Given the description of an element on the screen output the (x, y) to click on. 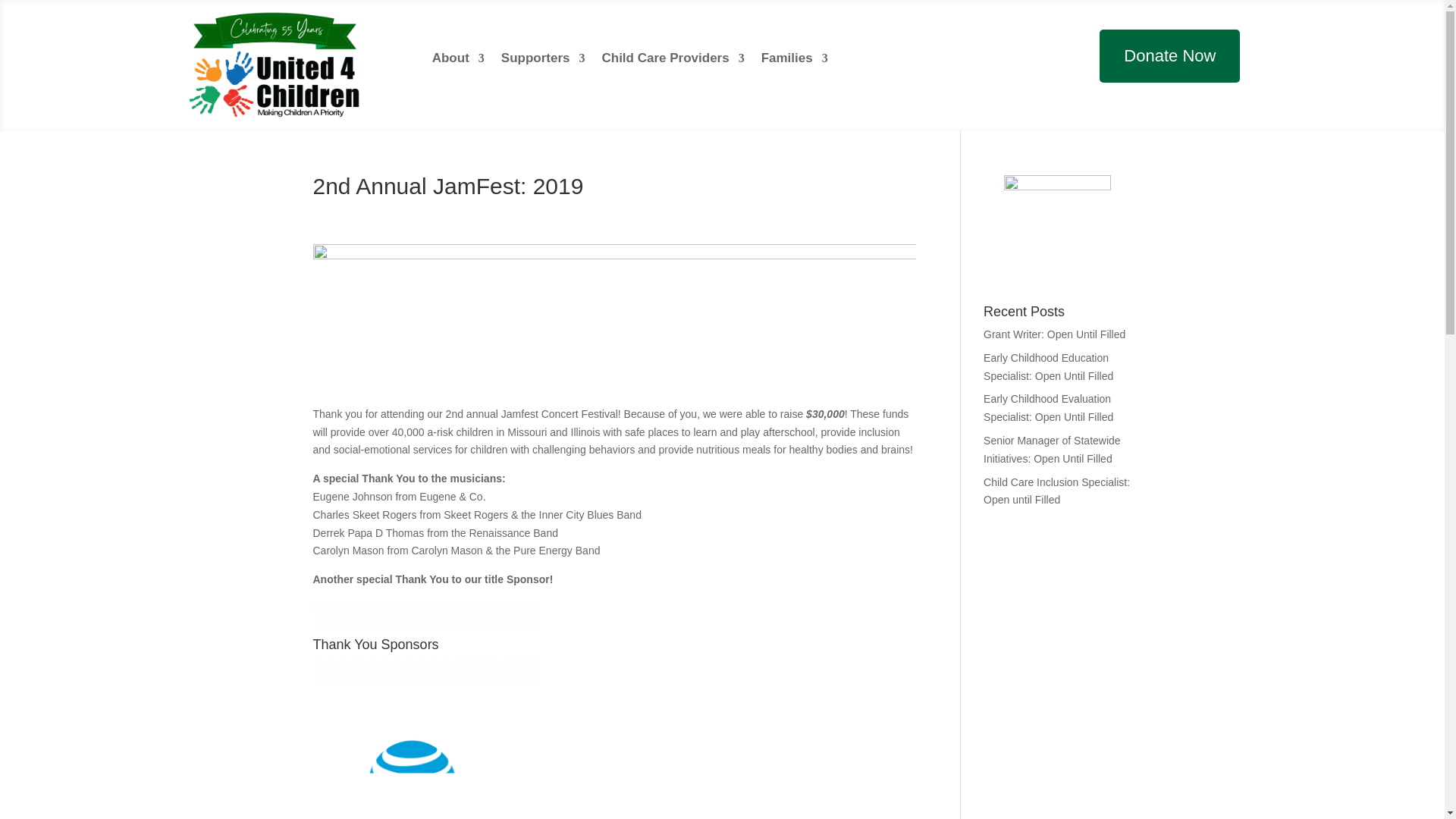
About (458, 61)
Celebrating 55 Years Logo Banner horizontal (264, 58)
Families (794, 61)
Child Care Providers (672, 61)
Supporters (542, 61)
